Given the description of an element on the screen output the (x, y) to click on. 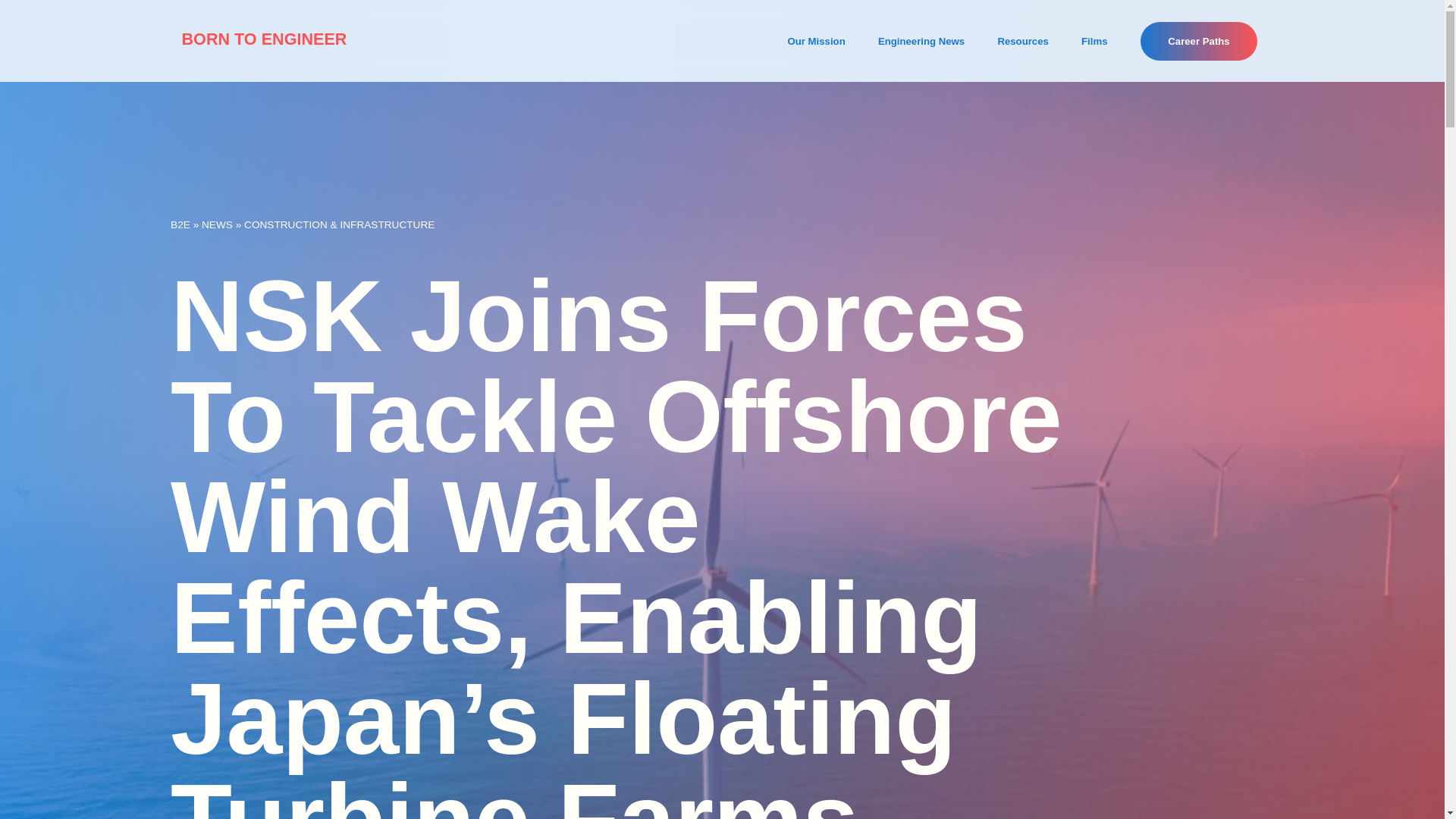
Films (1093, 40)
Career Paths (1198, 41)
NEWS (217, 224)
Resources (1022, 40)
Engineering News (920, 40)
B2E (180, 224)
BORN TO ENGINEER (263, 38)
Our Mission (815, 40)
